Given the description of an element on the screen output the (x, y) to click on. 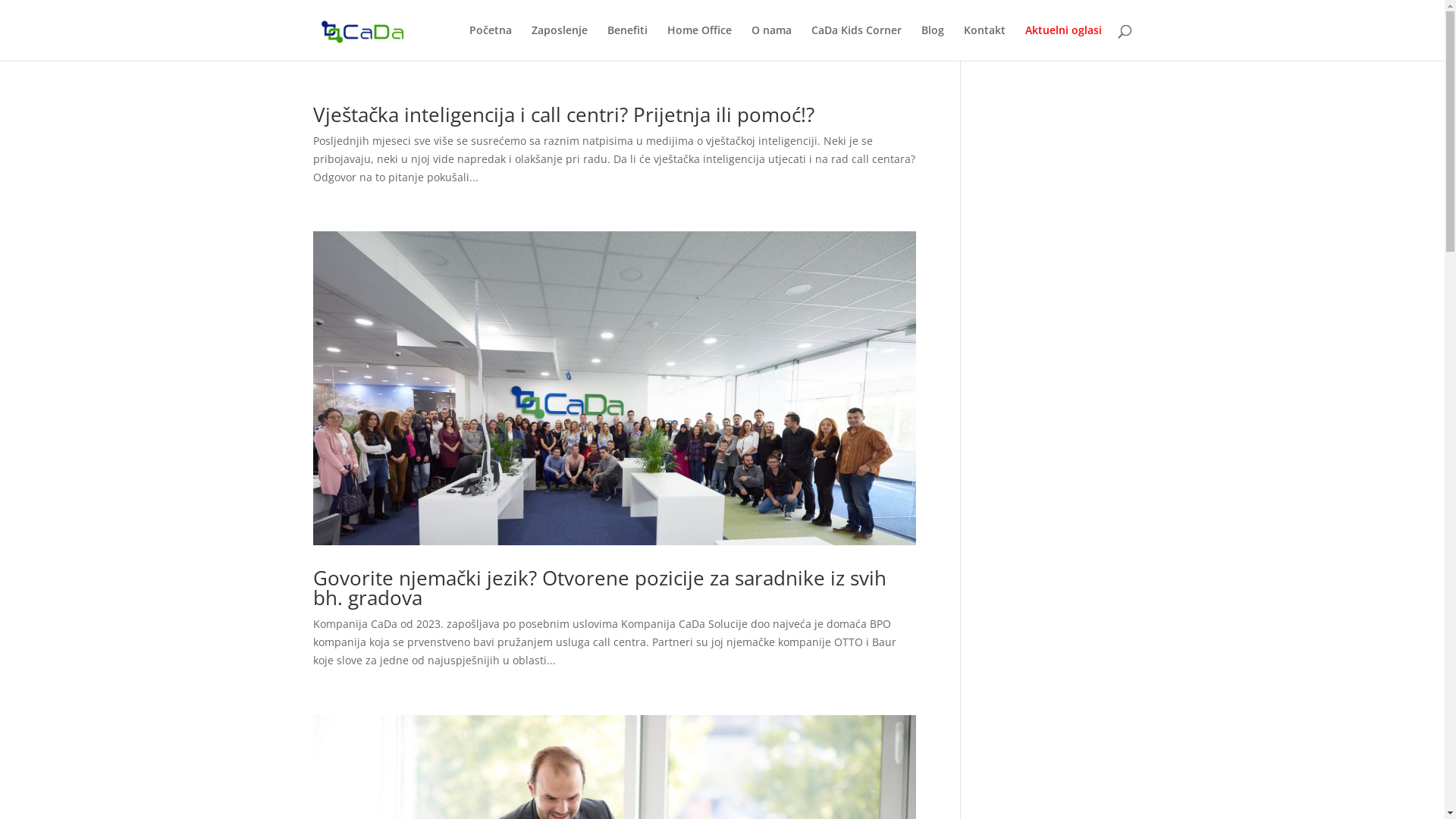
Zaposlenje Element type: text (558, 42)
Home Office Element type: text (699, 42)
CaDa Kids Corner Element type: text (856, 42)
Kontakt Element type: text (983, 42)
Benefiti Element type: text (626, 42)
Aktuelni oglasi Element type: text (1063, 42)
O nama Element type: text (770, 42)
Blog Element type: text (931, 42)
